Given the description of an element on the screen output the (x, y) to click on. 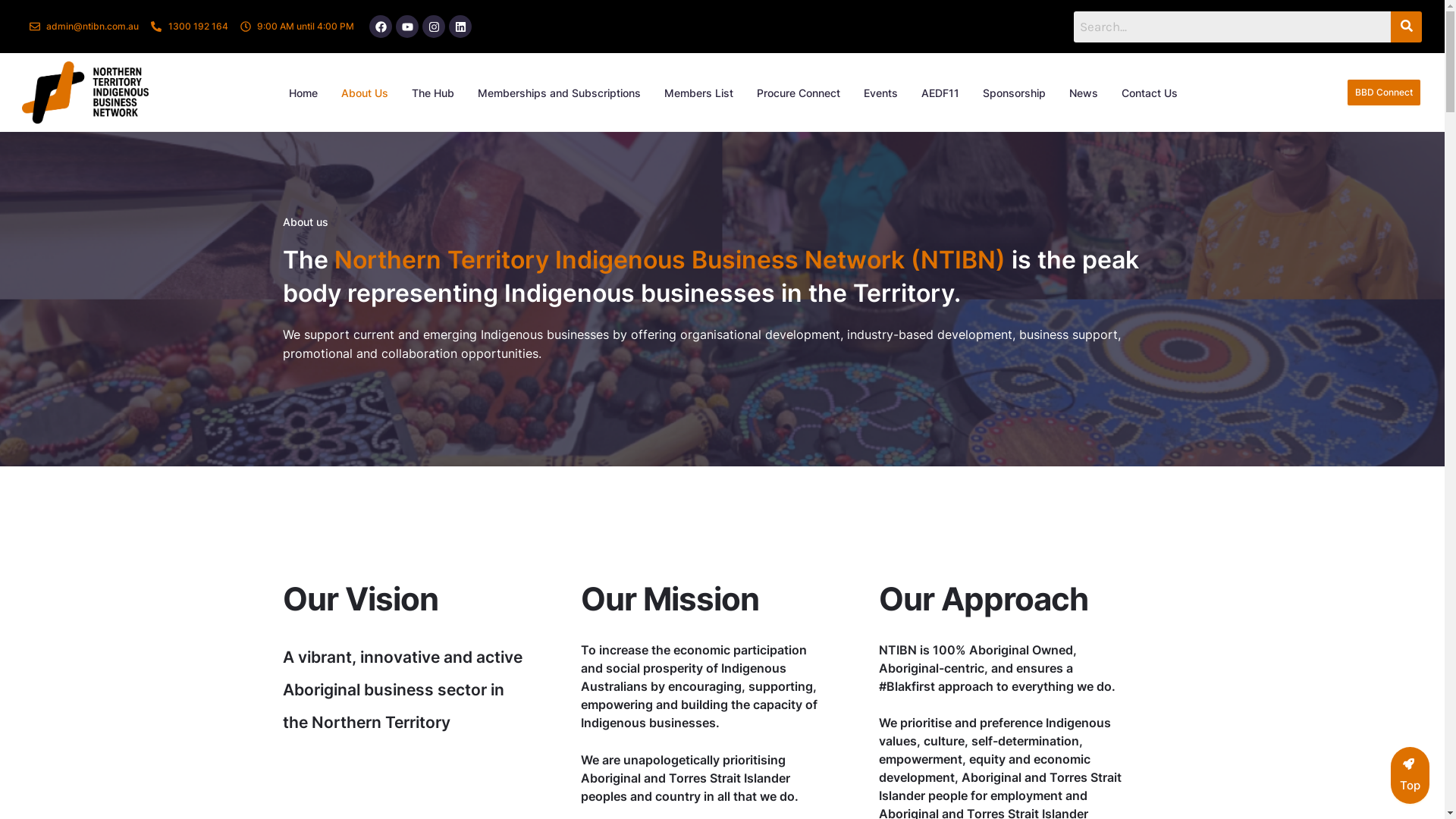
News Element type: text (1083, 92)
Procure Connect Element type: text (798, 92)
About Us Element type: text (364, 92)
admin@ntibn.com.au Element type: text (84, 26)
Top Element type: text (1409, 774)
Home Element type: text (303, 92)
Sponsorship Element type: text (1014, 92)
BBD Connect Element type: text (1383, 92)
Contact Us Element type: text (1149, 92)
Memberships and Subscriptions Element type: text (559, 92)
1300 192 164 Element type: text (189, 26)
The Hub Element type: text (432, 92)
Members List Element type: text (698, 92)
Events Element type: text (880, 92)
AEDF11 Element type: text (940, 92)
Search Element type: hover (1232, 25)
